Given the description of an element on the screen output the (x, y) to click on. 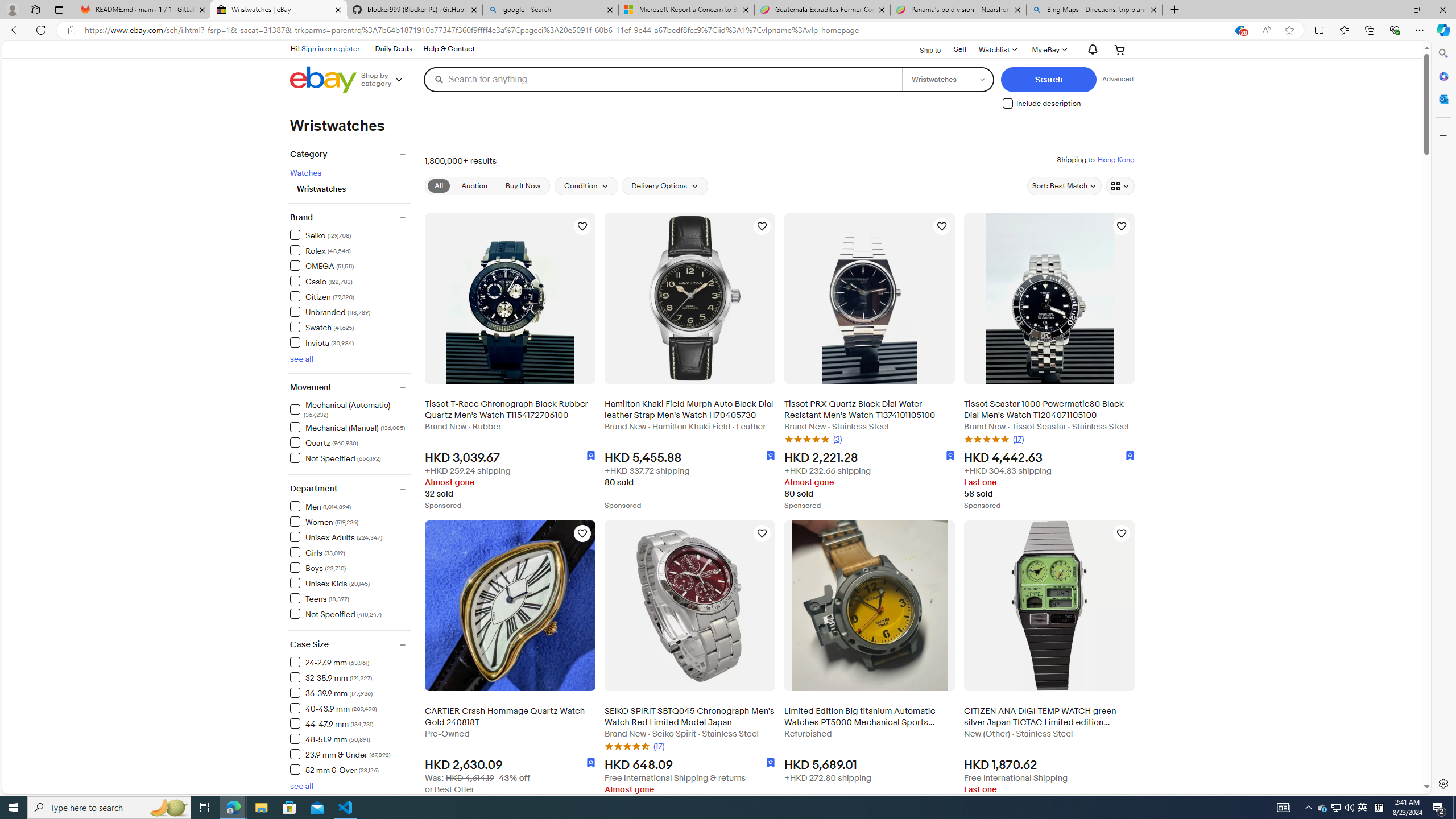
44-47.9 mm (134,731) Items (331, 723)
watch CARTIER Crash Hommage Quartz Watch Gold 240818T (582, 533)
Ship to (922, 48)
Delivery Options (665, 185)
Search for anything (662, 78)
Ship to (922, 50)
Quartz(960,930) Items (349, 441)
32-35.9 mm (121,227) Items (330, 677)
Seiko (129,708) Items (319, 234)
